Given the description of an element on the screen output the (x, y) to click on. 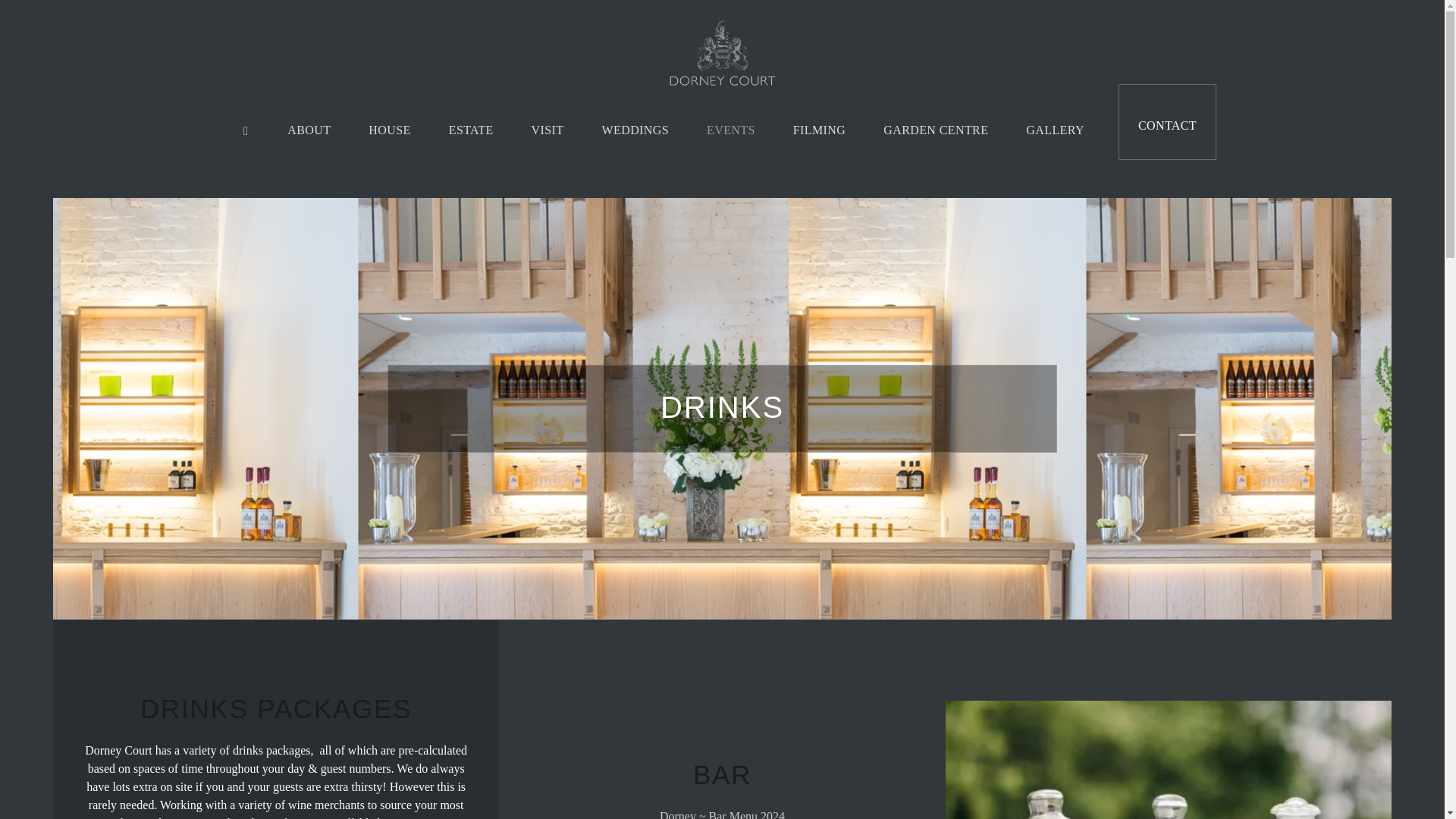
VISIT (547, 129)
HOUSE (389, 129)
WEDDINGS (634, 129)
ESTATE (470, 129)
ABOUT (308, 129)
